Given the description of an element on the screen output the (x, y) to click on. 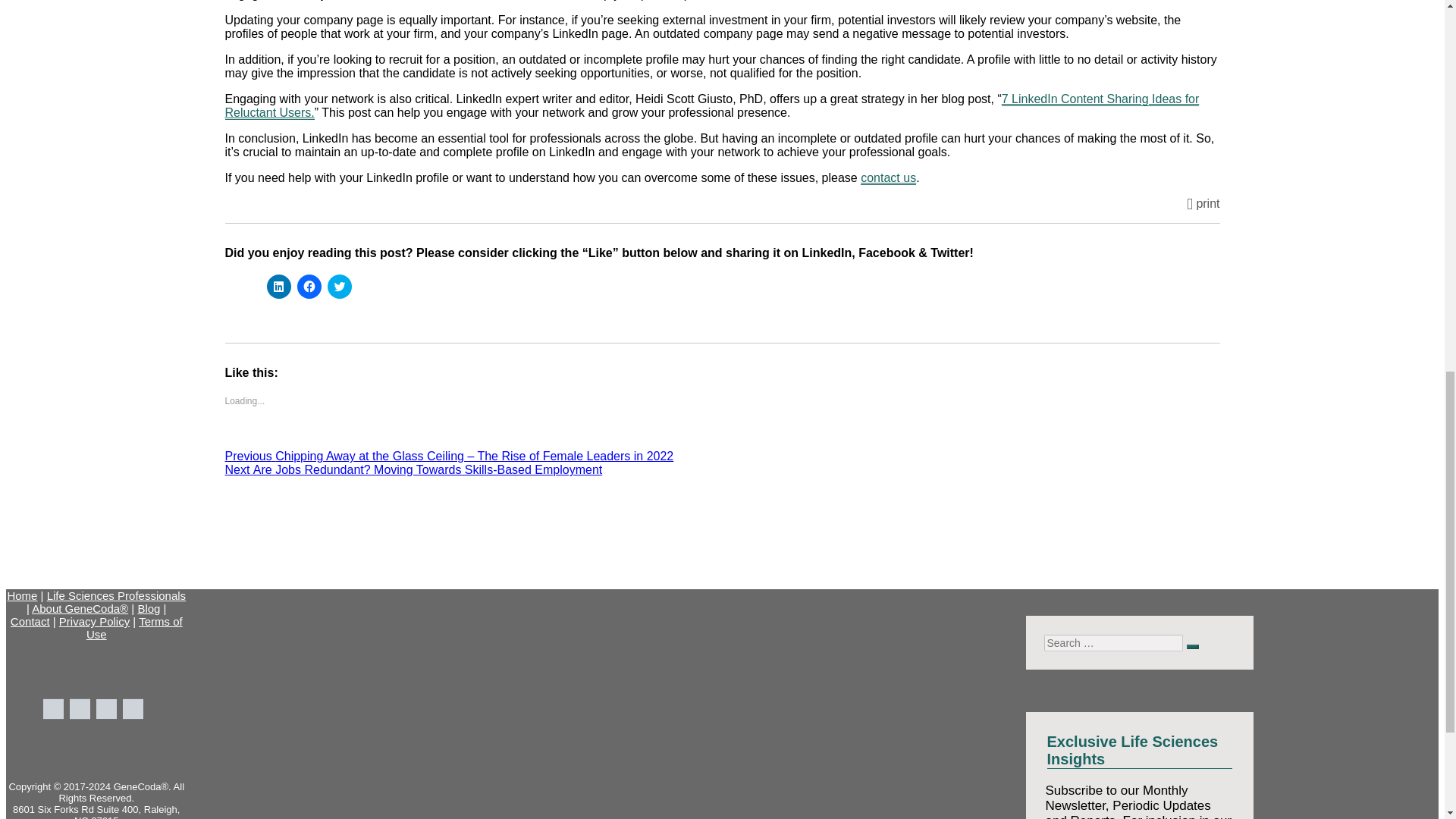
7 LinkedIn Content Sharing Ideas for Reluctant Users. (711, 105)
Click to share on Facebook (309, 286)
Click to share on LinkedIn (278, 286)
Click to share on Twitter (339, 286)
